Given the description of an element on the screen output the (x, y) to click on. 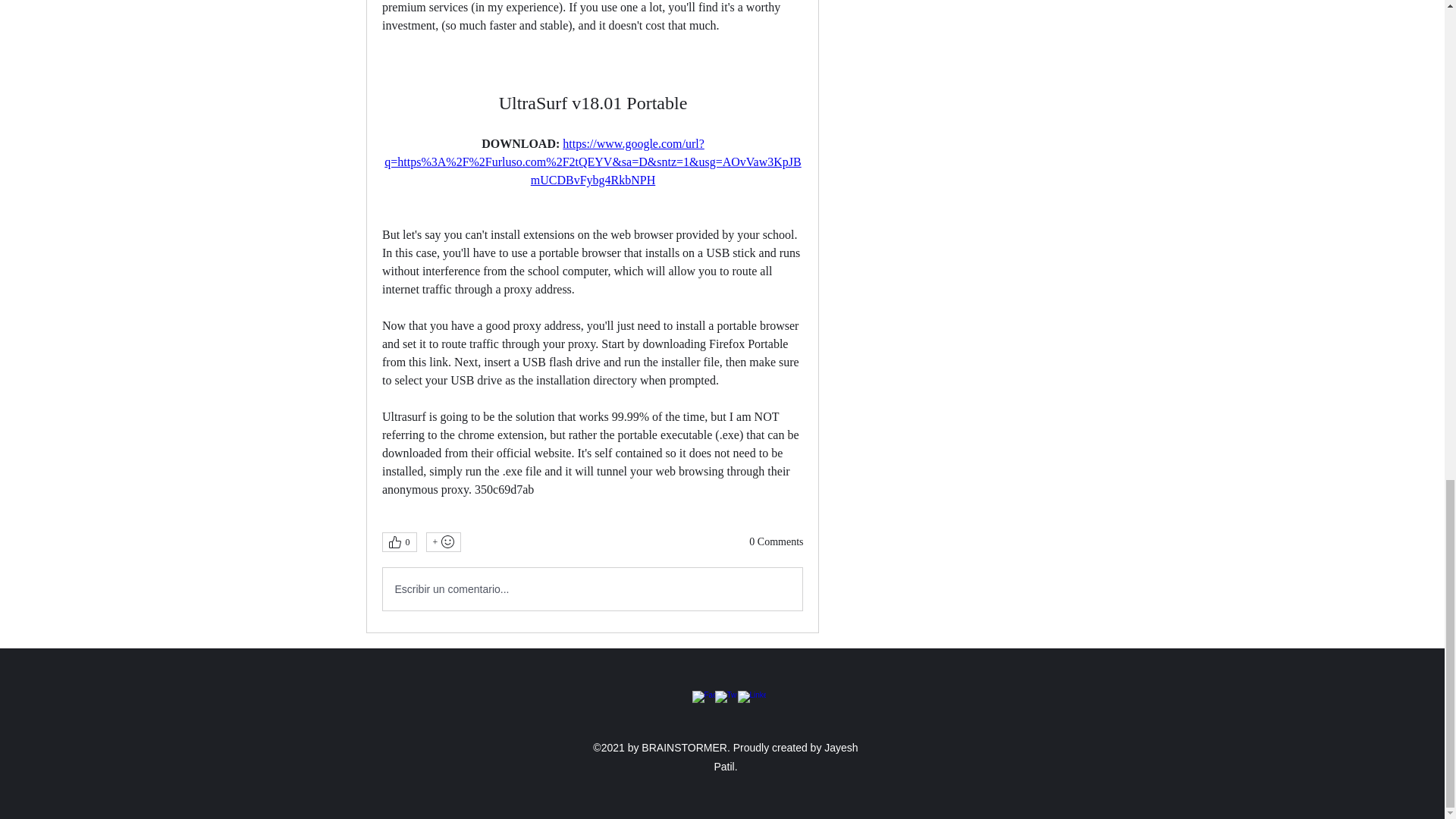
0 Comments (776, 541)
Escribir un comentario... (591, 589)
